Given the description of an element on the screen output the (x, y) to click on. 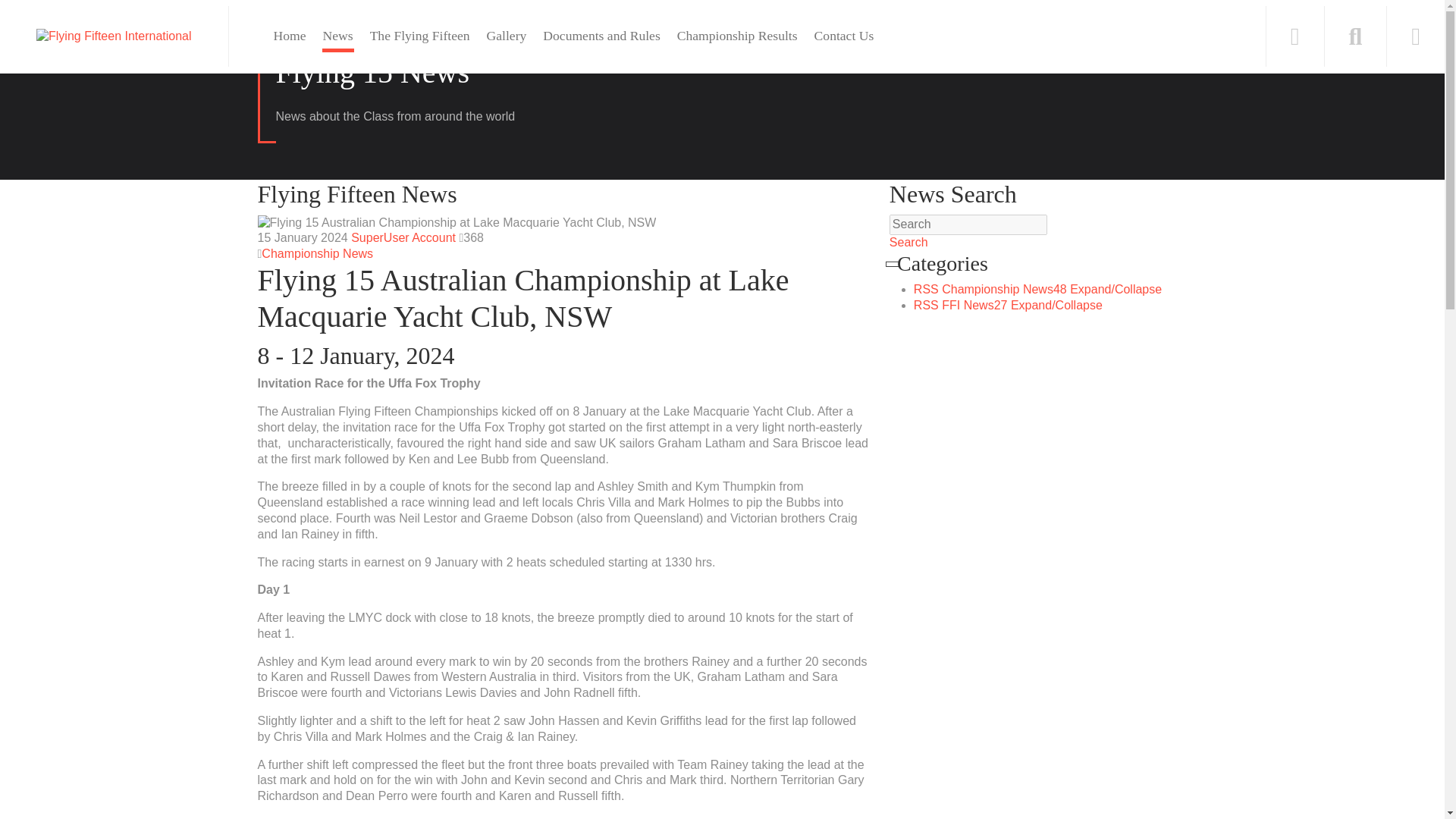
News (337, 35)
Documents and Rules (601, 35)
The Flying Fifteen (419, 35)
Search (967, 224)
FFI News (974, 305)
Gallery (506, 35)
Home (290, 35)
Championship News (1004, 288)
Flying Fifteen International (114, 35)
